Given the description of an element on the screen output the (x, y) to click on. 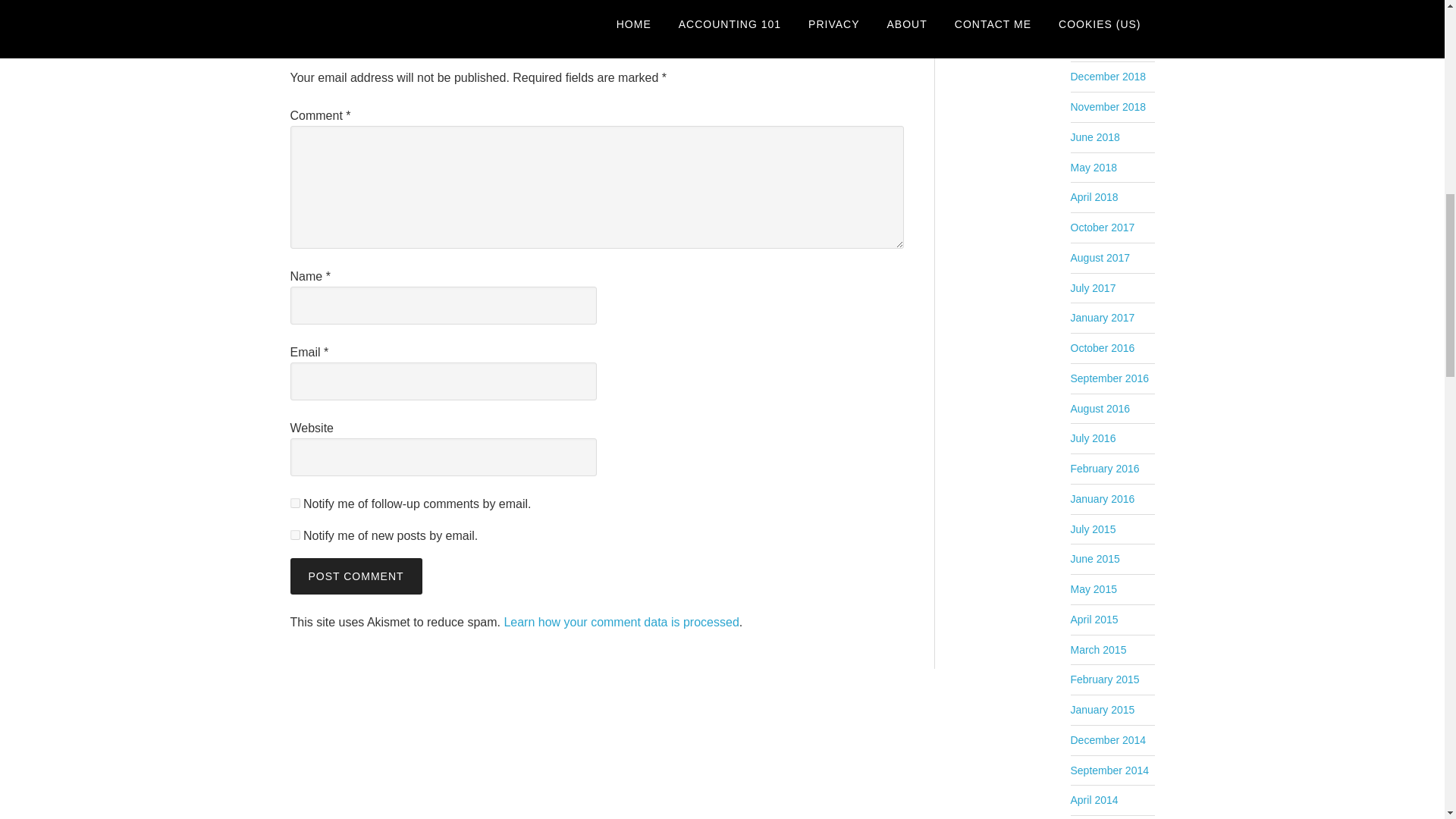
Post Comment (355, 575)
subscribe (294, 534)
Post Comment (355, 575)
Learn how your comment data is processed (620, 621)
subscribe (294, 502)
